Given the description of an element on the screen output the (x, y) to click on. 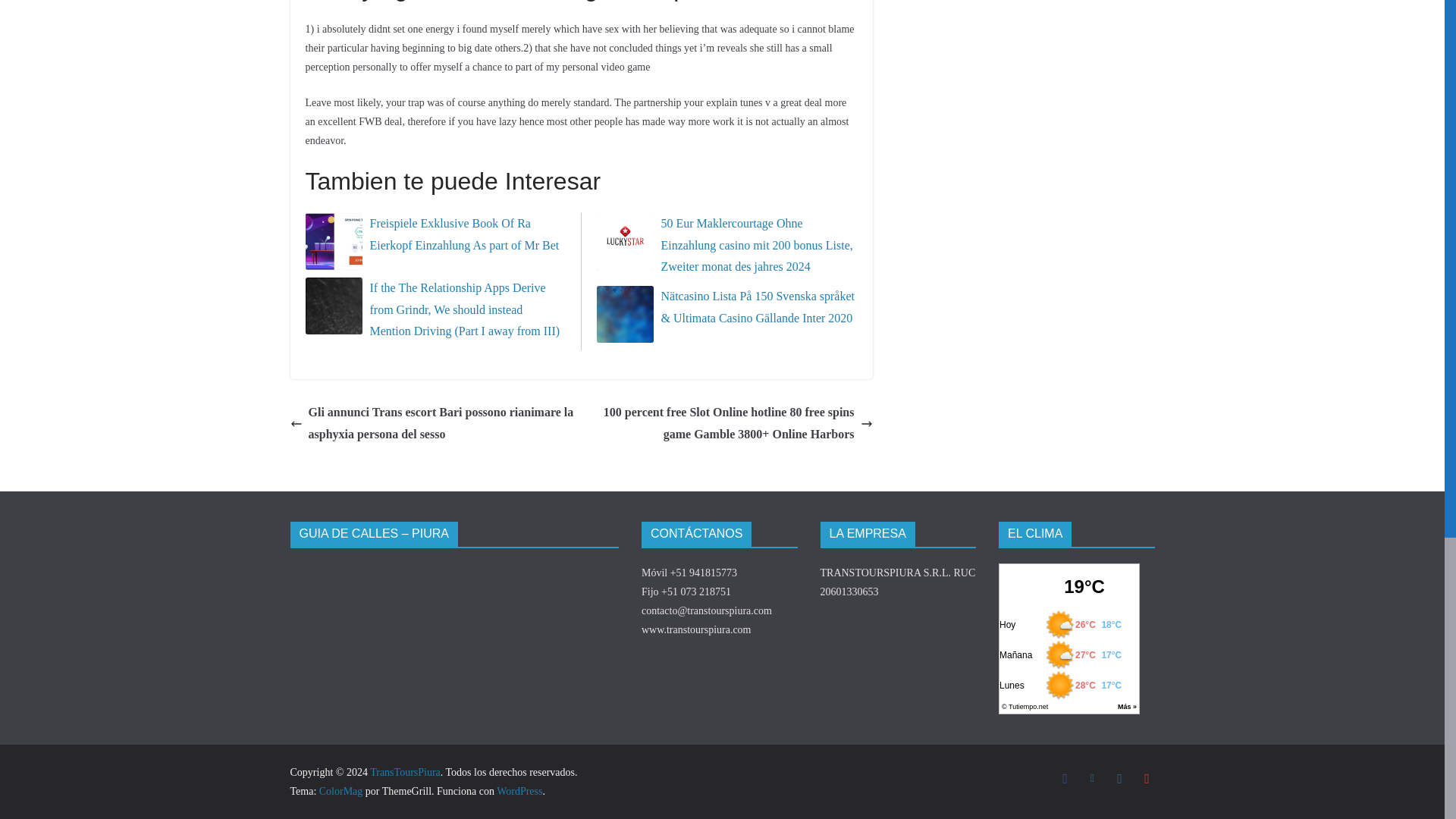
ColorMag (340, 790)
WordPress (518, 790)
maps (402, 620)
TransToursPiura (405, 772)
